Given the description of an element on the screen output the (x, y) to click on. 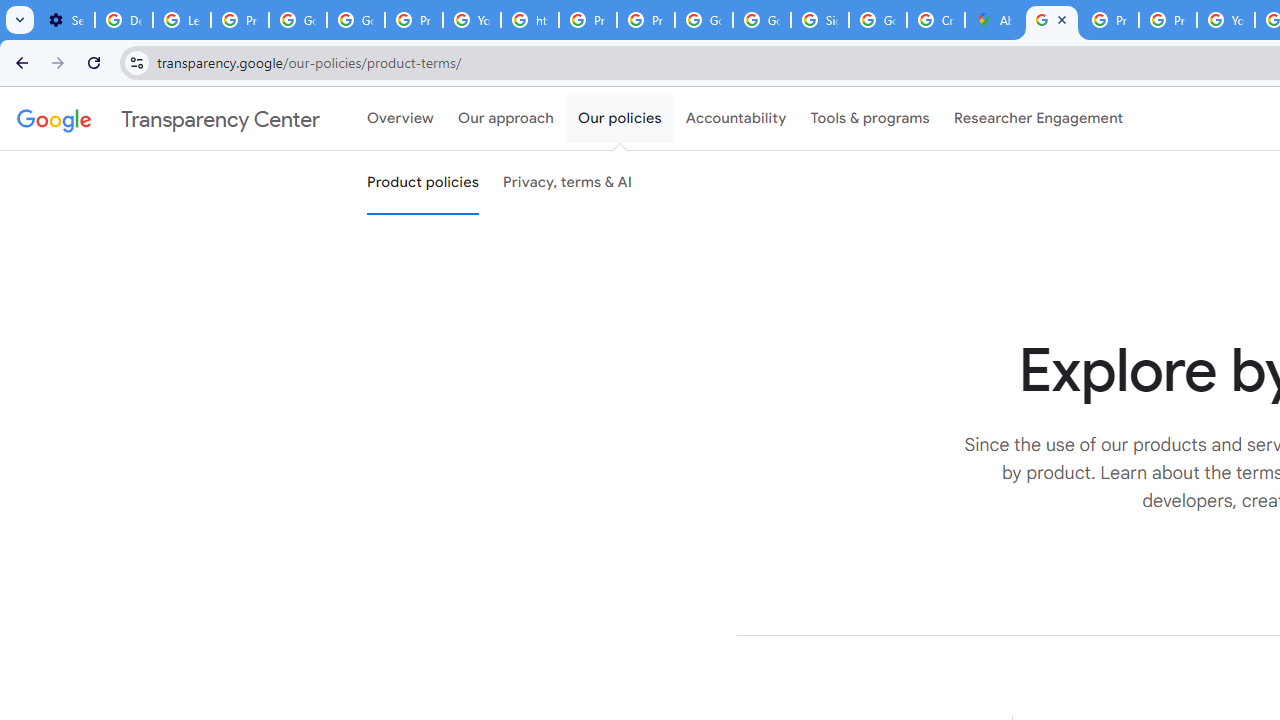
YouTube (471, 20)
Sign in - Google Accounts (819, 20)
Google Account Help (355, 20)
Privacy, terms & AI (568, 183)
Accountability (735, 119)
Learn how to find your photos - Google Photos Help (181, 20)
Delete photos & videos - Computer - Google Photos Help (123, 20)
Google Account Help (297, 20)
Our policies (619, 119)
https://scholar.google.com/ (529, 20)
